Given the description of an element on the screen output the (x, y) to click on. 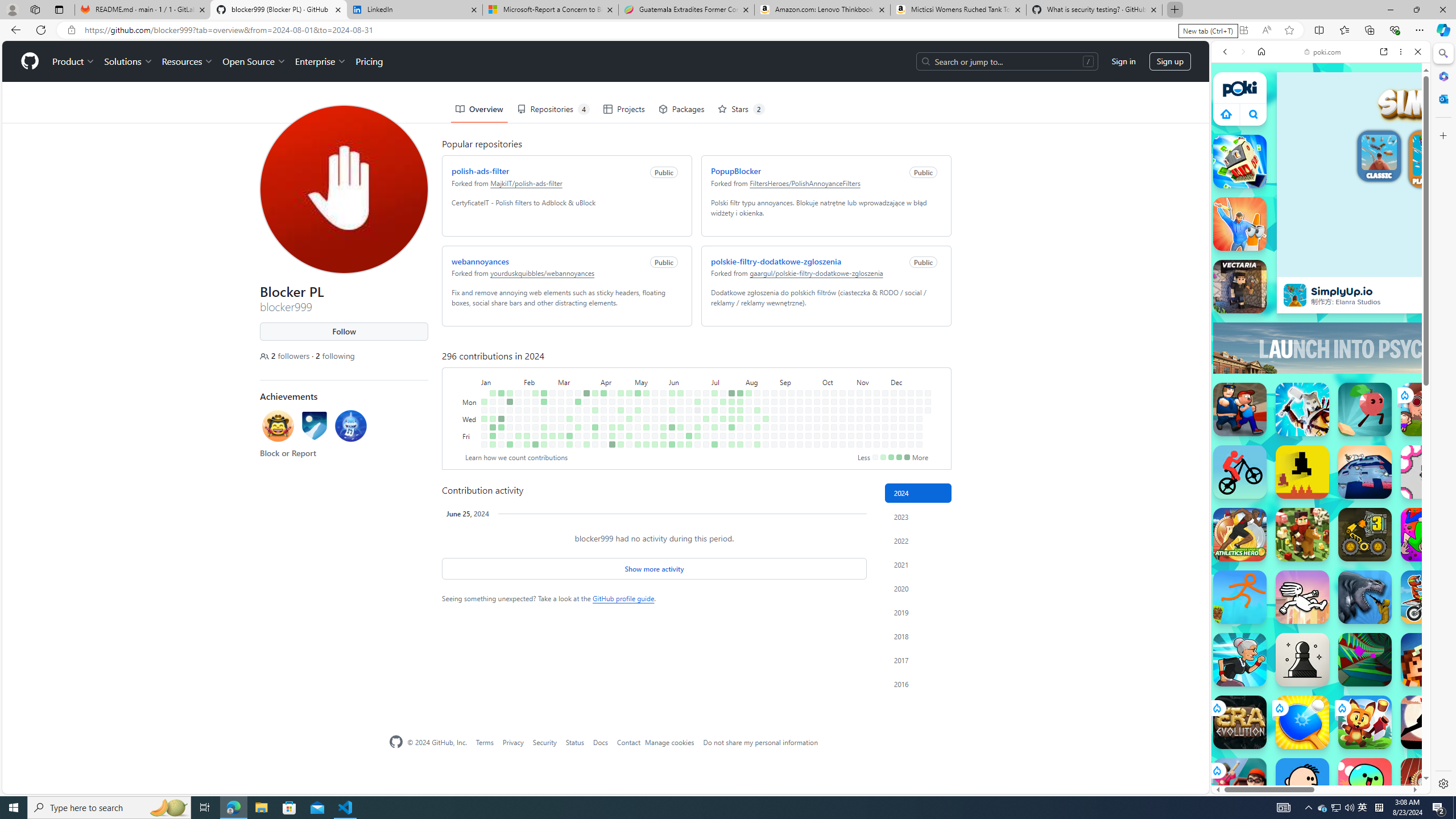
Friday (471, 435)
Search Filter, IMAGES (1262, 129)
Poki (1315, 754)
No contributions on May 15th. (646, 418)
1 contribution on July 27th. (731, 444)
JollyWorld (1427, 534)
No contributions on December 18th. (910, 418)
No contributions on December 21st. (910, 444)
No contributions on February 27th. (552, 410)
No contributions on April 14th. (611, 392)
Forward (1242, 51)
No contributions on December 24th. (919, 410)
5 contributions on February 19th. (543, 401)
No contributions on October 16th. (834, 418)
No contributions on April 3rd. (595, 418)
